Given the description of an element on the screen output the (x, y) to click on. 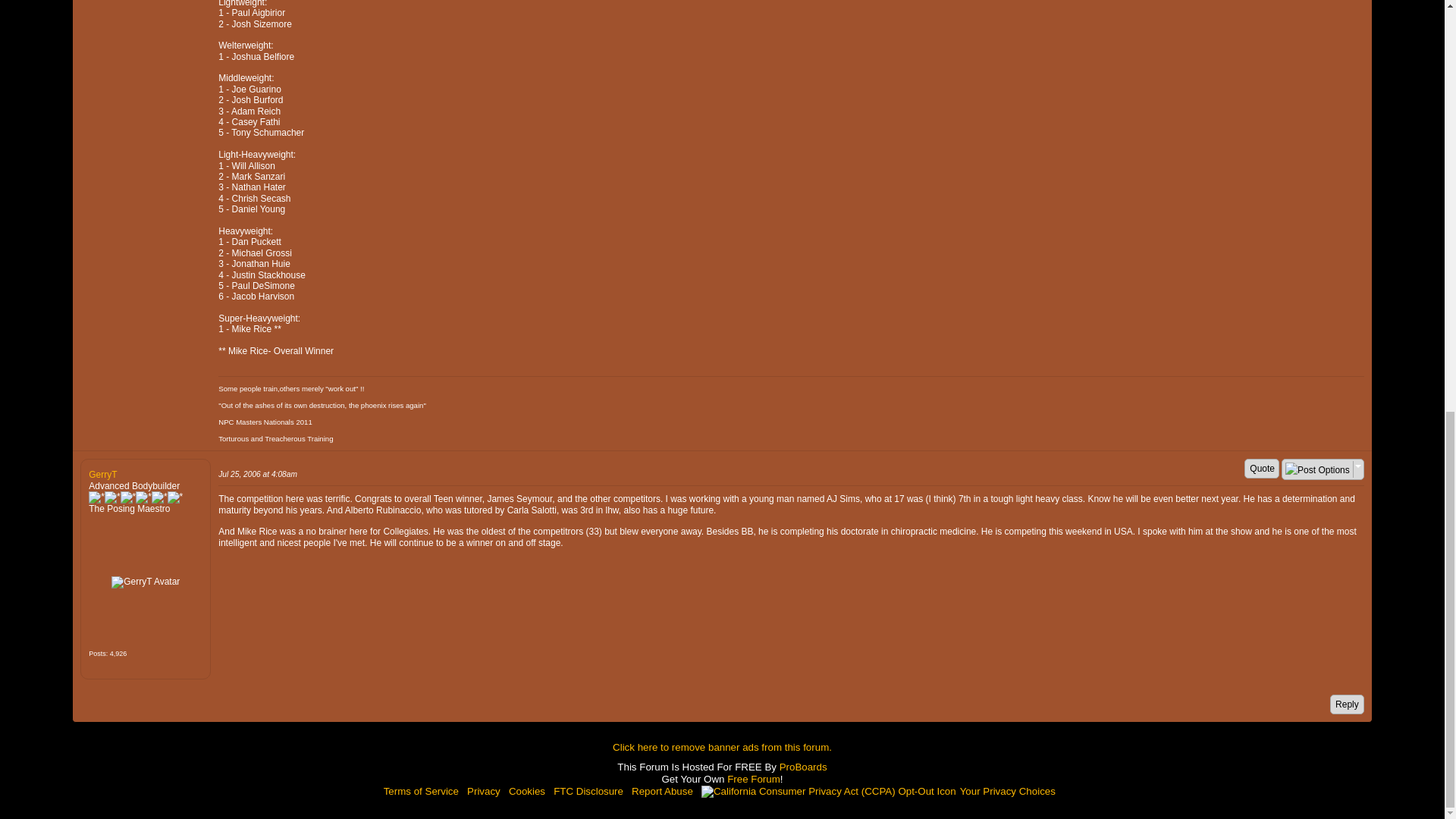
Your Privacy Choices (881, 790)
Cookies (526, 790)
GerryT (145, 582)
Privacy (483, 790)
Post Options (1317, 469)
